Given the description of an element on the screen output the (x, y) to click on. 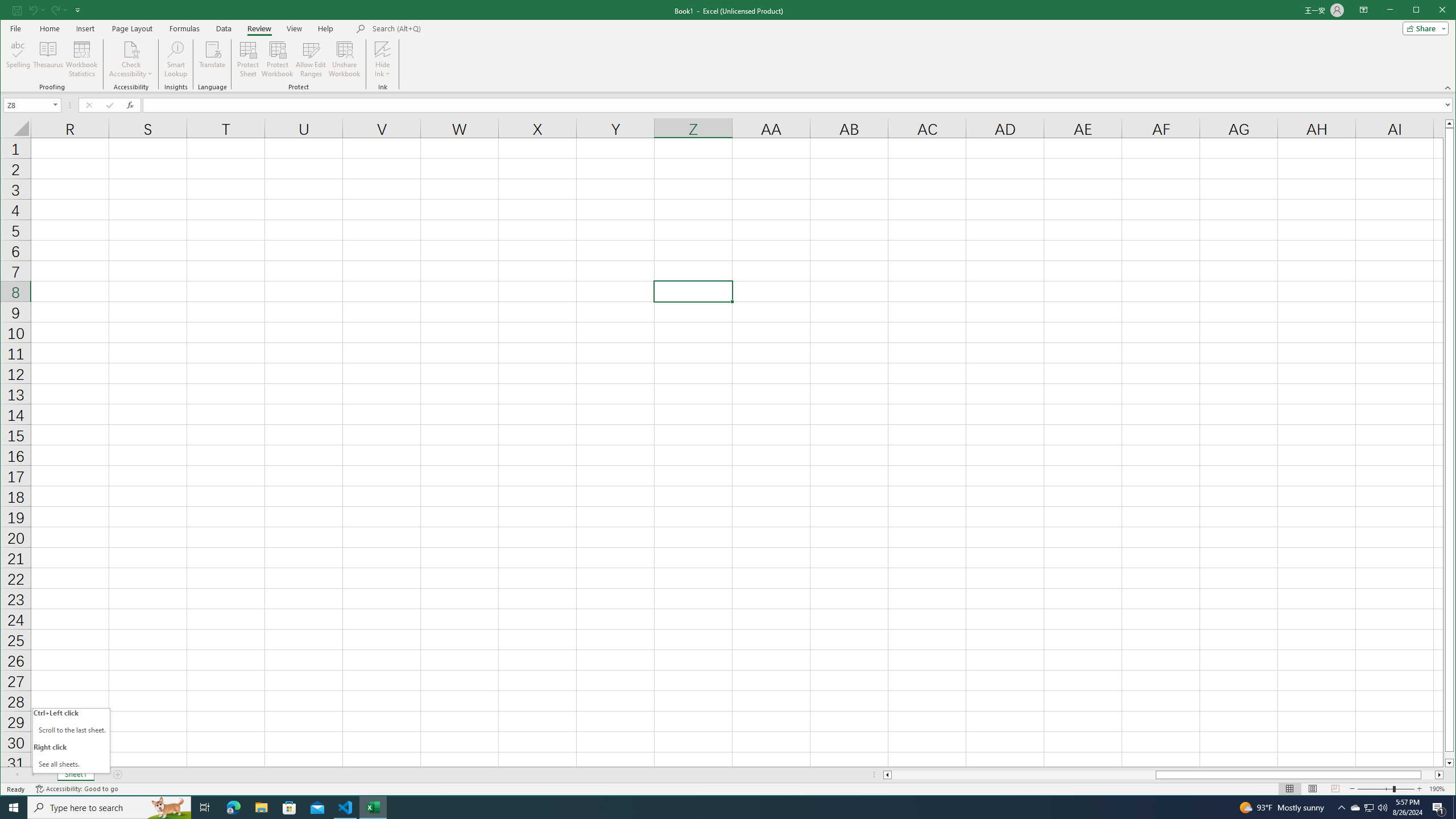
Protect Workbook... (277, 59)
Formula Bar (799, 104)
Check Accessibility (130, 48)
Search highlights icon opens search home window (167, 807)
Smart Lookup (176, 59)
Translate (1355, 807)
